Given the description of an element on the screen output the (x, y) to click on. 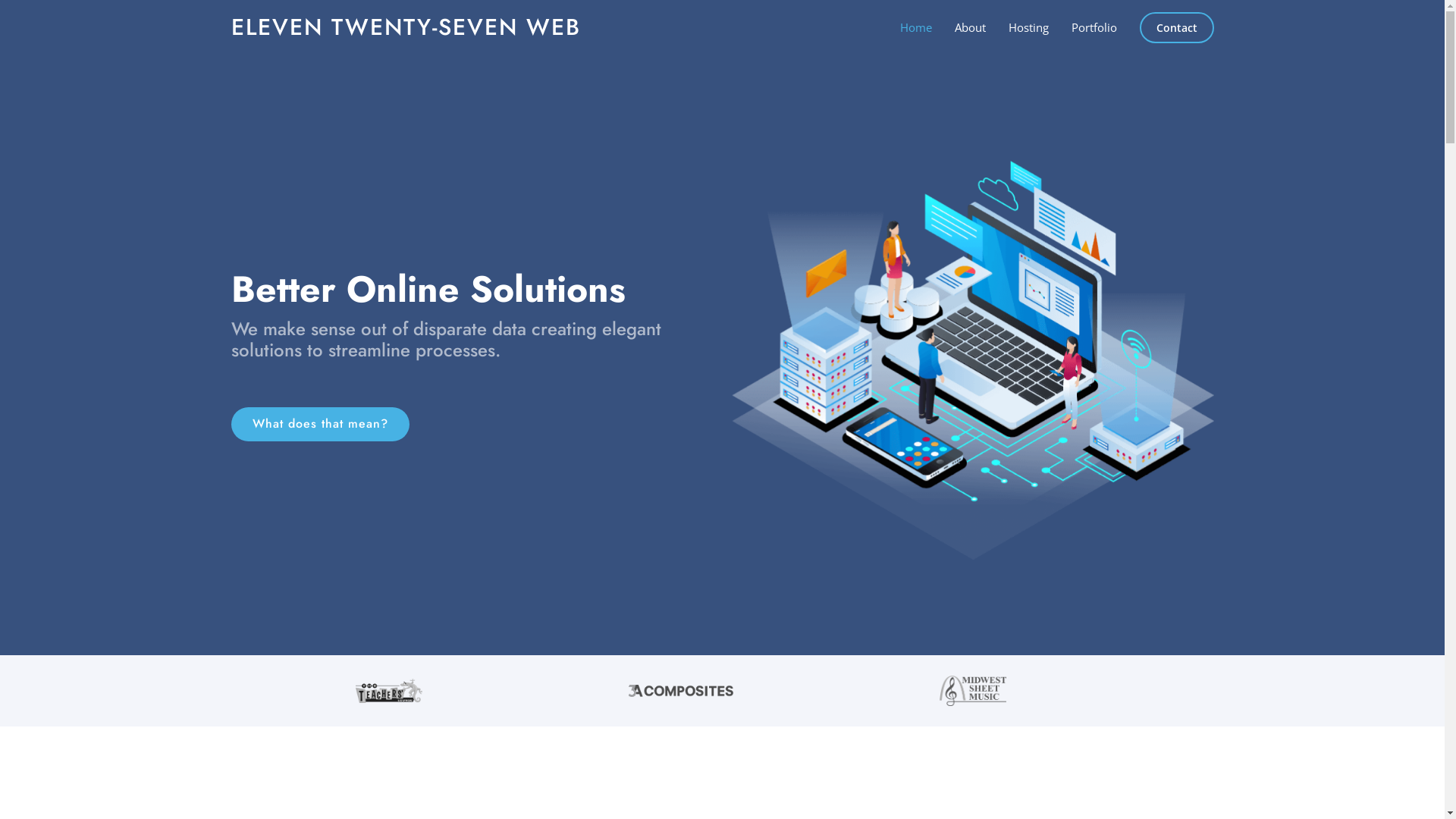
Portfolio Element type: text (1082, 27)
What does that mean? Element type: text (319, 424)
Contact Element type: text (1176, 27)
ELEVEN TWENTY-SEVEN WEB Element type: text (405, 26)
About Element type: text (958, 27)
Home Element type: text (903, 27)
Hosting Element type: text (1016, 27)
